Given the description of an element on the screen output the (x, y) to click on. 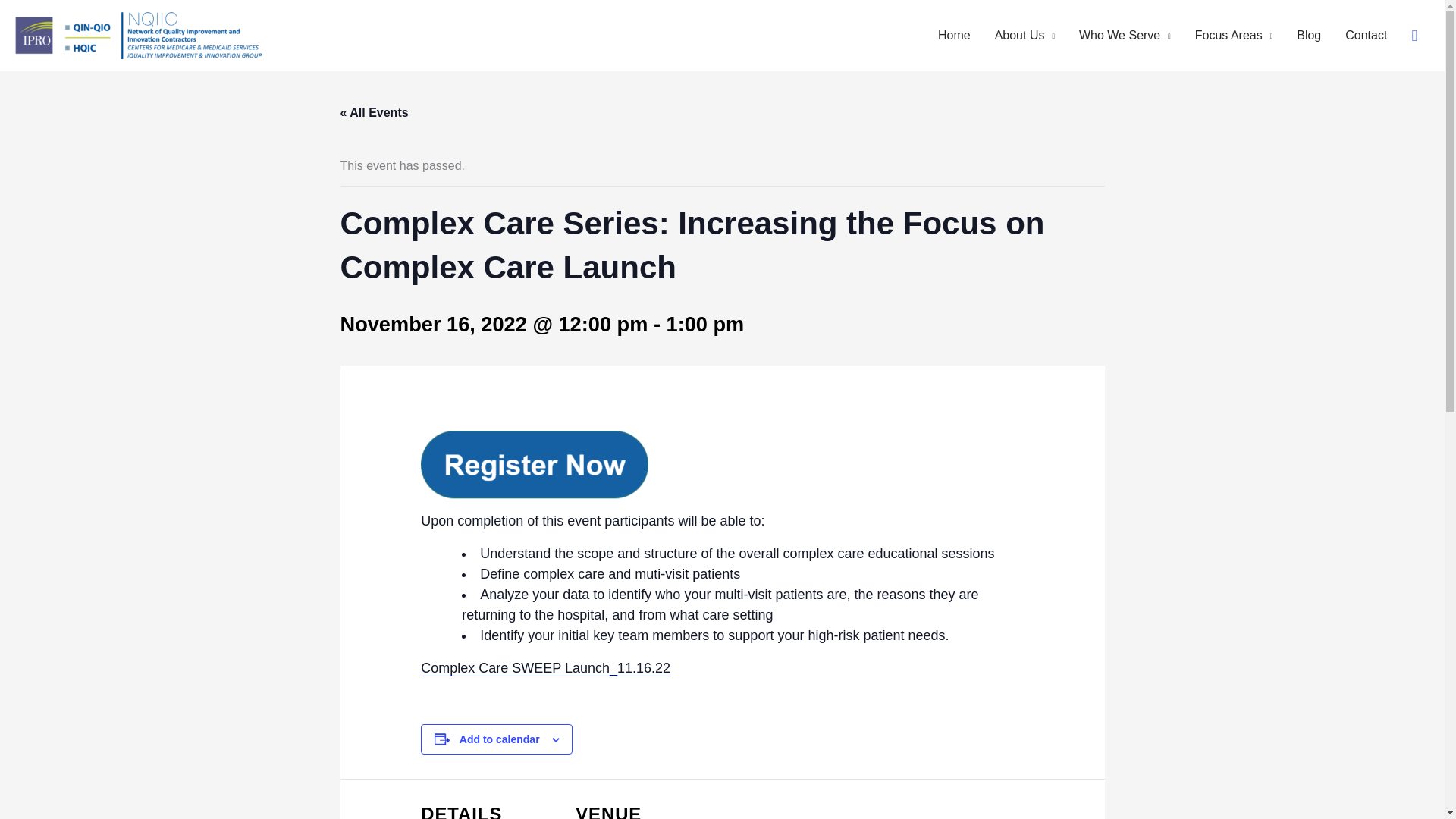
Blog (1308, 35)
Contact (1366, 35)
Add to calendar (500, 739)
About Us (1024, 35)
Home (954, 35)
Focus Areas (1233, 35)
Who We Serve (1124, 35)
